Given the description of an element on the screen output the (x, y) to click on. 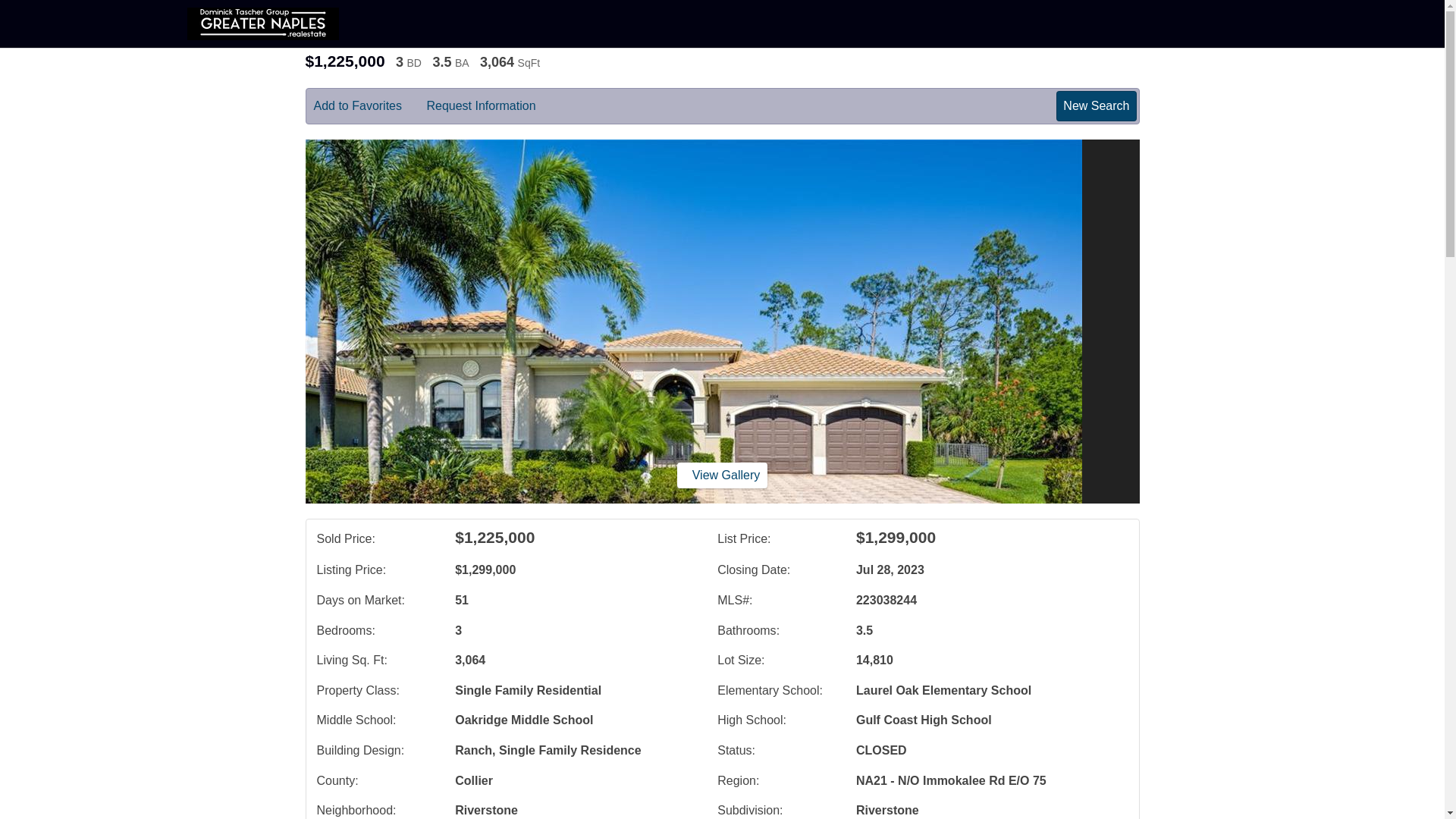
Request Information (491, 106)
New Search (1096, 105)
Add to Favorites (368, 106)
View Gallery (722, 475)
View Gallery (722, 474)
